Given the description of an element on the screen output the (x, y) to click on. 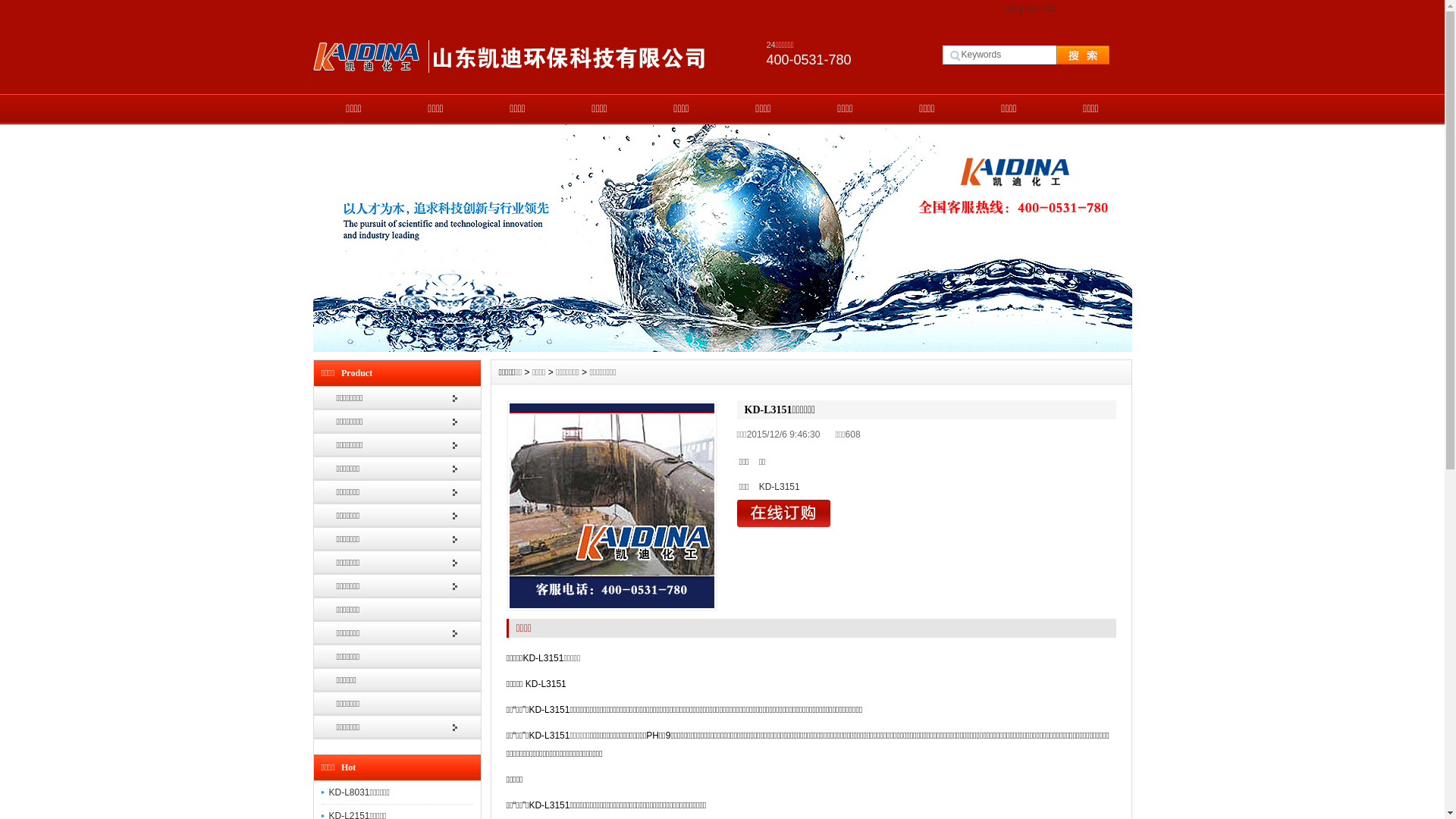
  Element type: text (1068, 54)
